Given the description of an element on the screen output the (x, y) to click on. 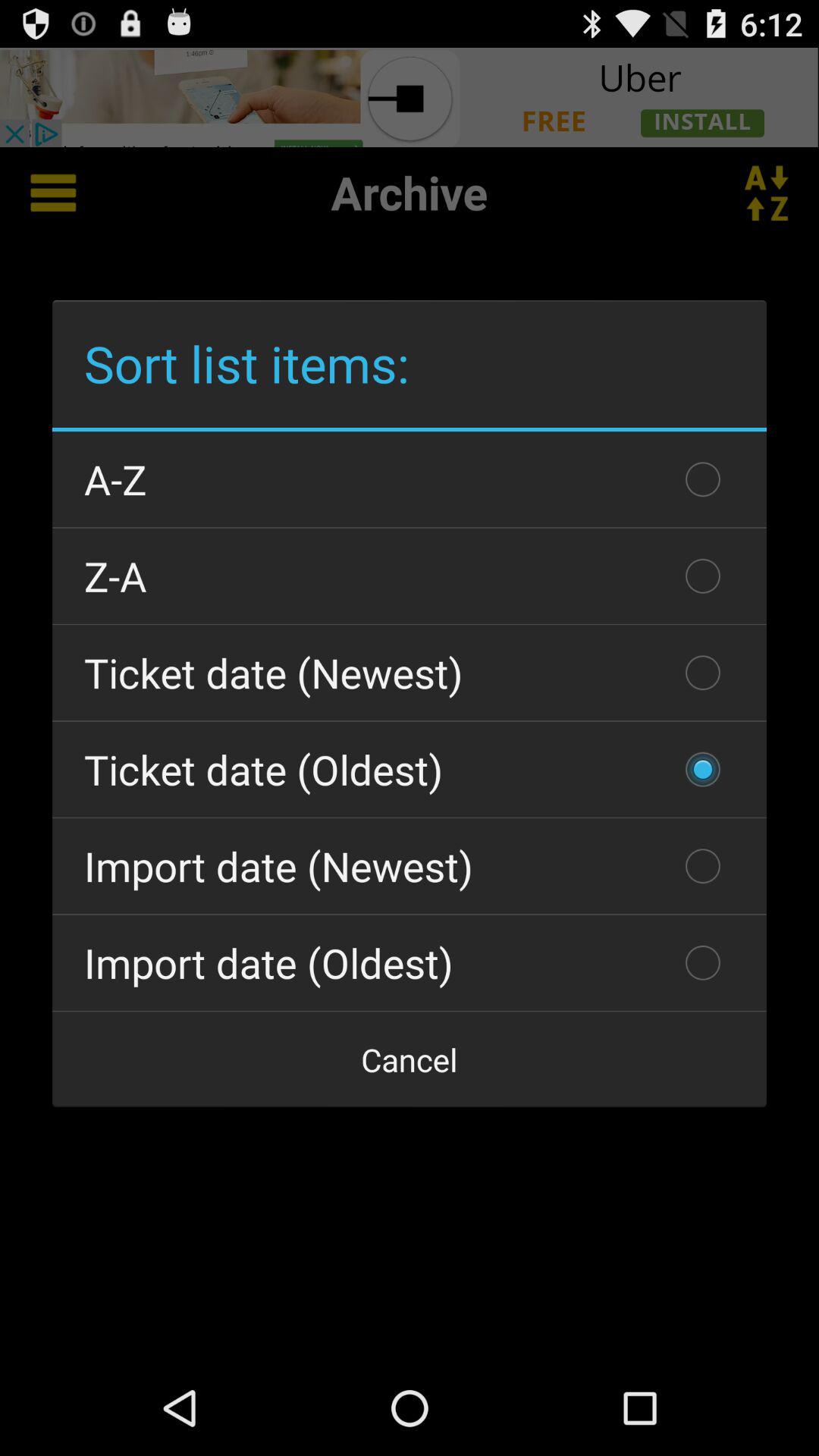
jump until the cancel item (409, 1059)
